Given the description of an element on the screen output the (x, y) to click on. 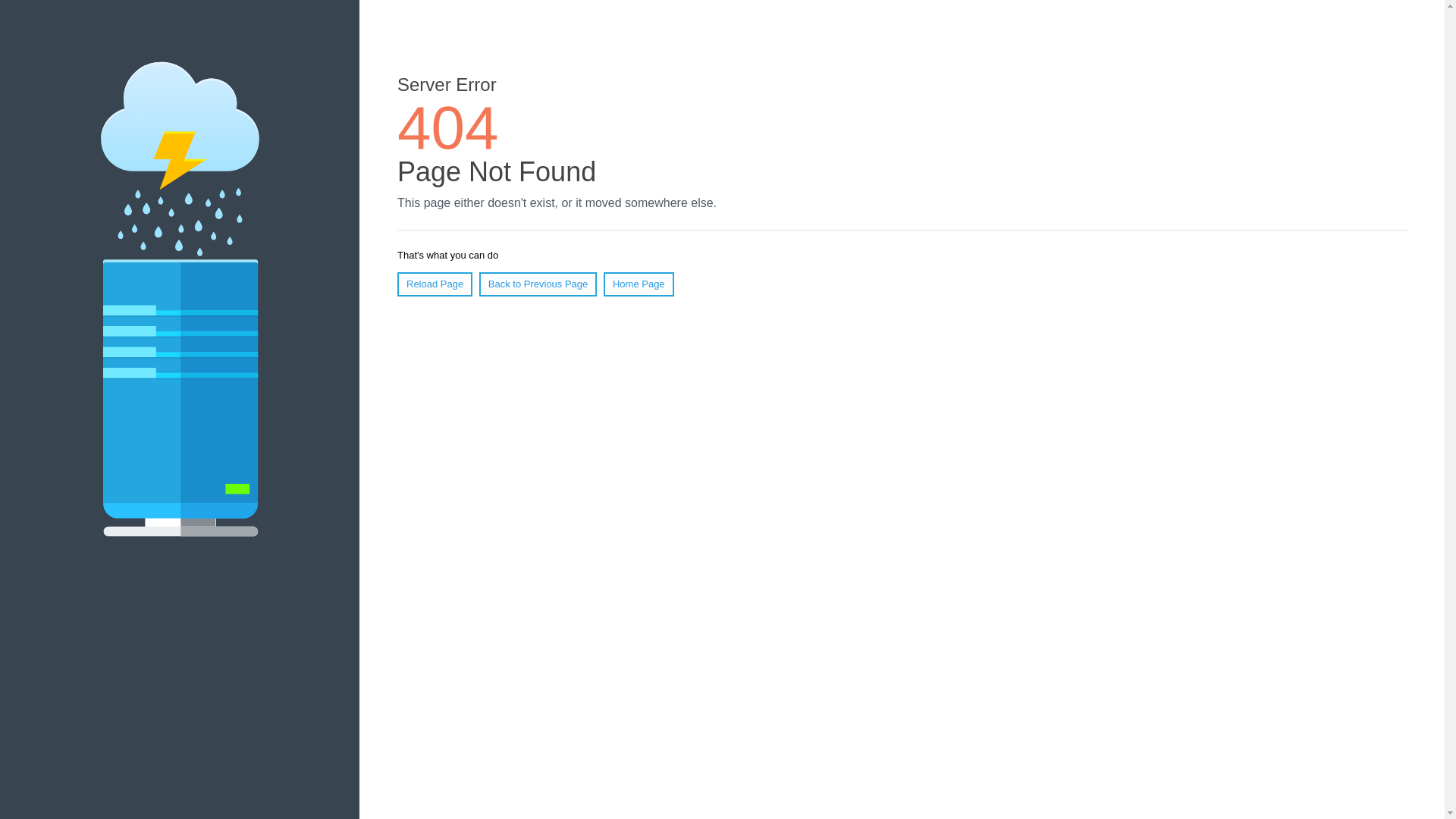
Home Page Element type: text (638, 284)
Reload Page Element type: text (434, 284)
Back to Previous Page Element type: text (538, 284)
